Given the description of an element on the screen output the (x, y) to click on. 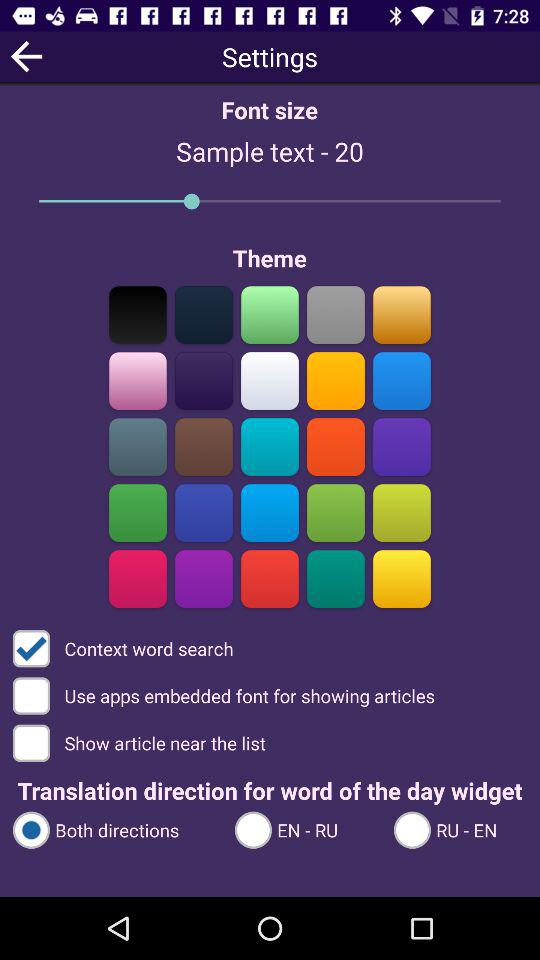
select gray (137, 446)
